Given the description of an element on the screen output the (x, y) to click on. 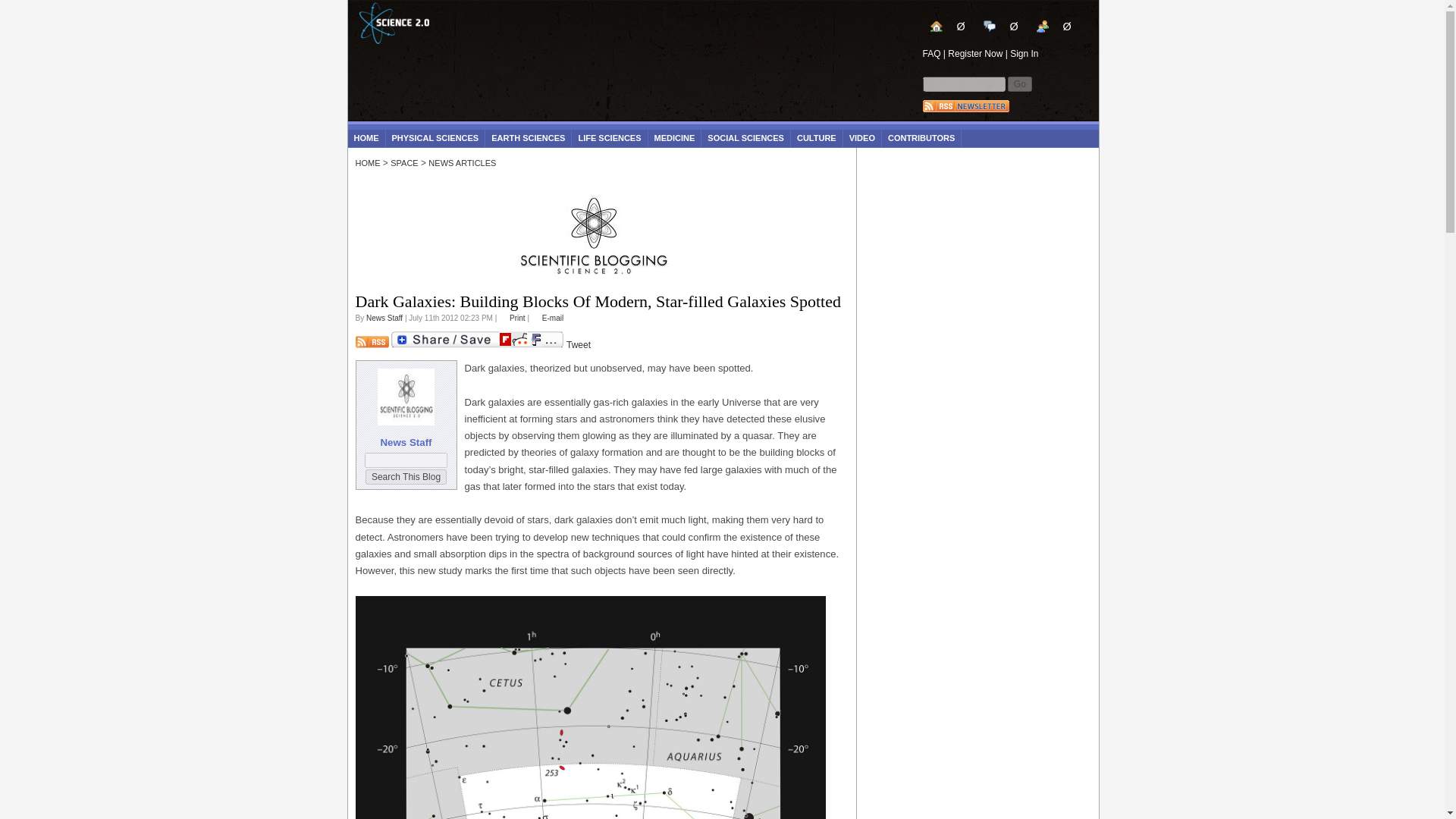
PHYSICAL SCIENCES (434, 138)
Sign in and see comments by people on your friends list... (1054, 26)
MEDICINE (674, 138)
Search This Blog (405, 476)
Sign In (1024, 53)
View user profile. (384, 317)
Register Now (975, 53)
Go (1019, 83)
HOME (365, 138)
